Given the description of an element on the screen output the (x, y) to click on. 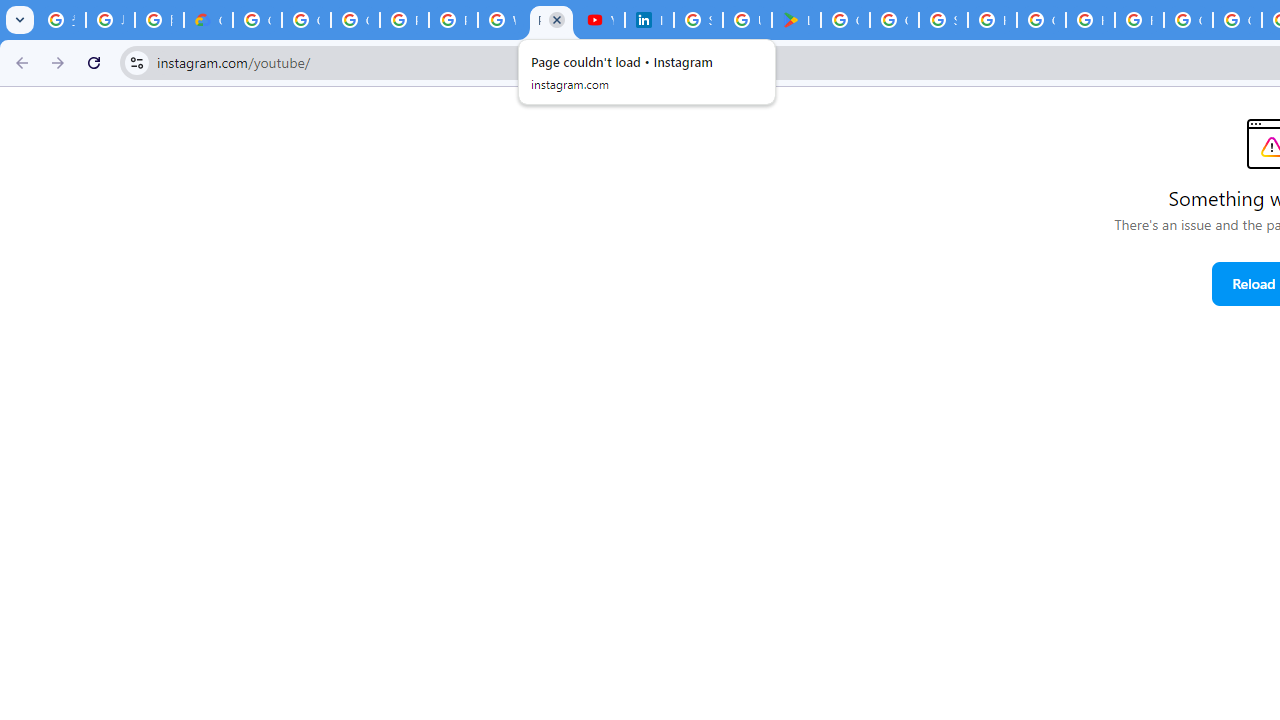
Last Shelter: Survival - Apps on Google Play (795, 20)
Privacy Help Center - Policies Help (452, 20)
How do I create a new Google Account? - Google Account Help (1090, 20)
